Given the description of an element on the screen output the (x, y) to click on. 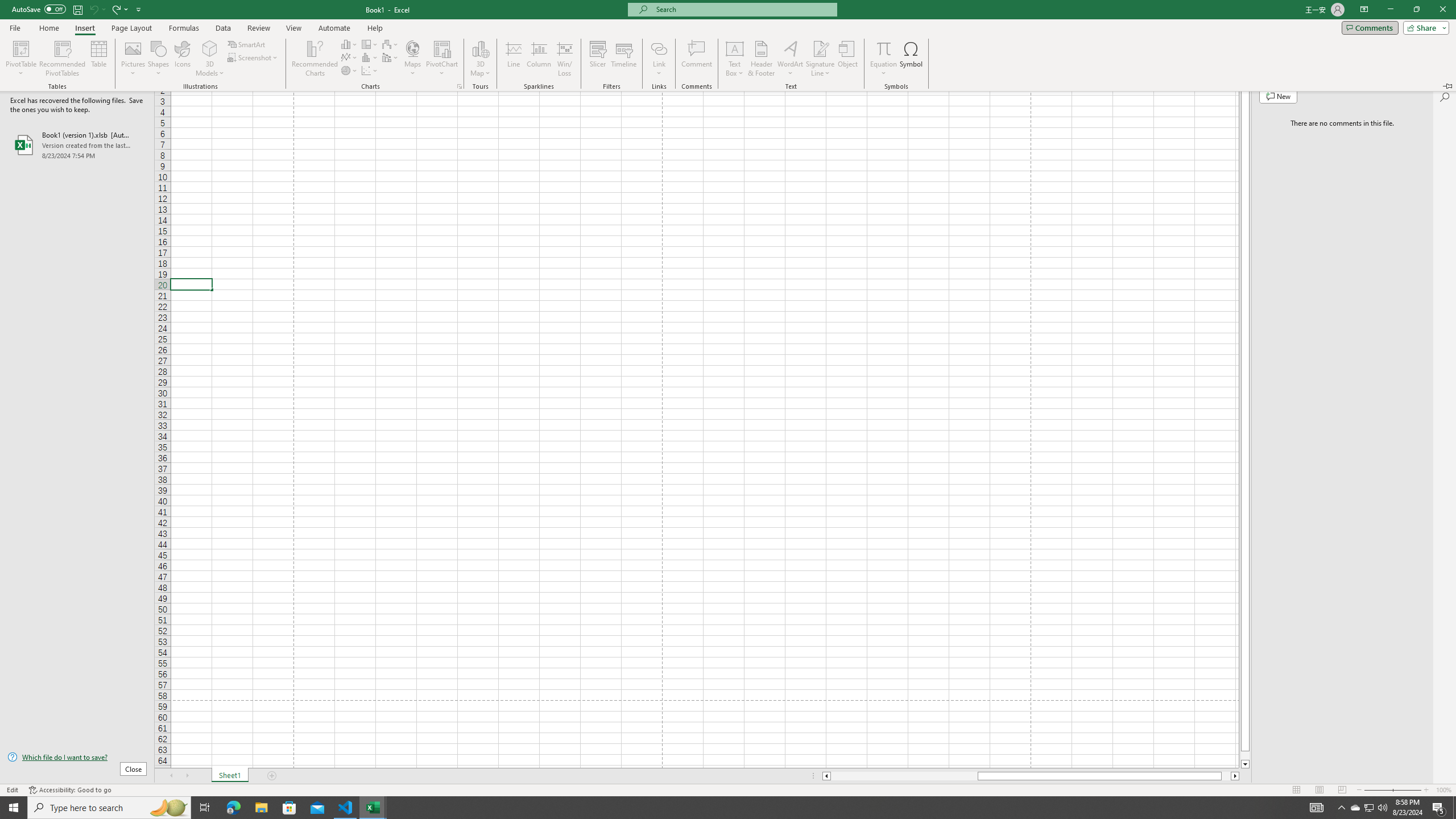
Running applications (717, 807)
AutomationID: 4105 (1368, 807)
Type here to search (1316, 807)
